Given the description of an element on the screen output the (x, y) to click on. 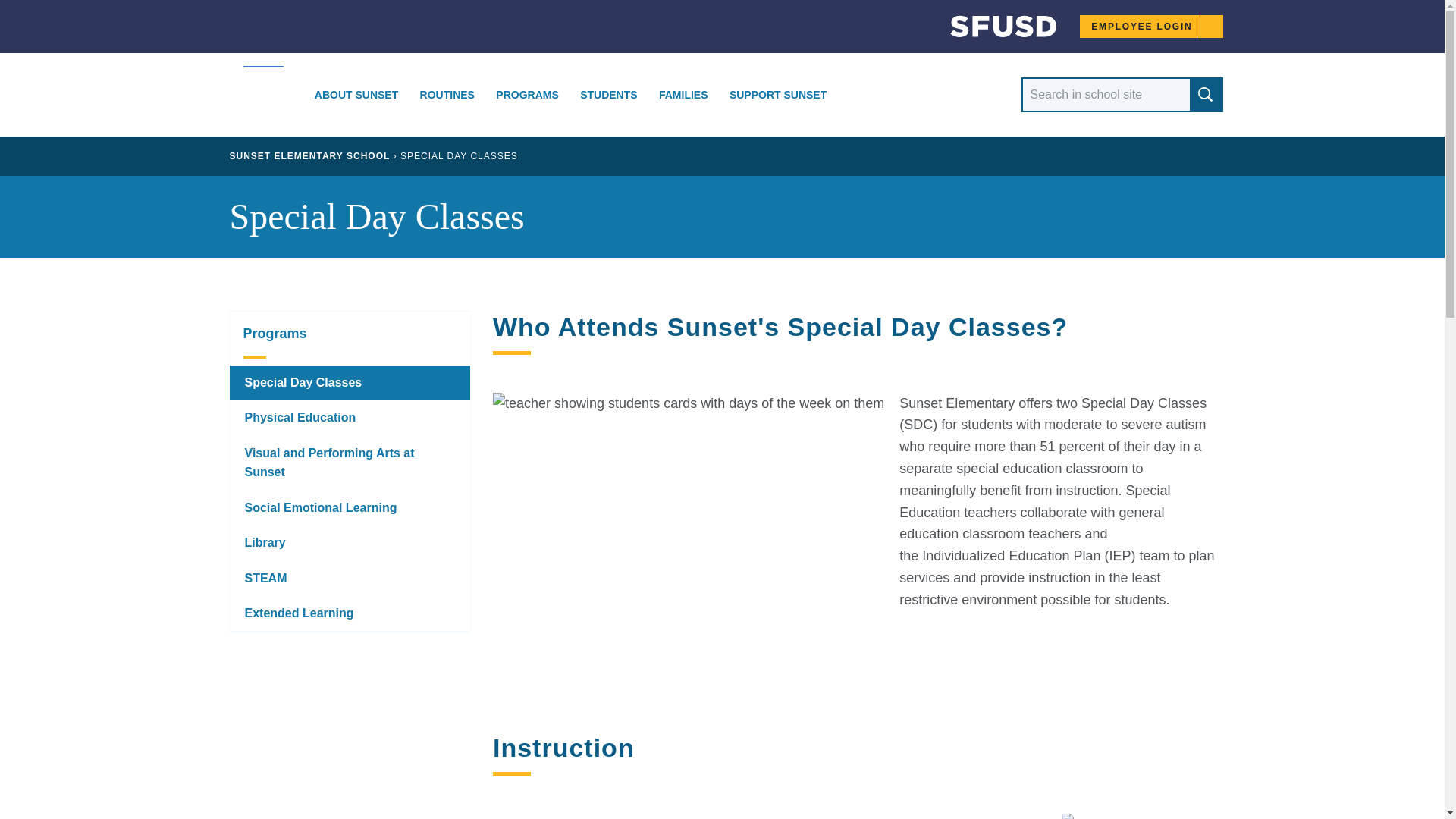
Search (1205, 94)
ABOUT SUNSET (356, 94)
ROUTINES (446, 94)
PROGRAMS (527, 94)
Home (989, 30)
STUDENTS (608, 94)
EMPLOYEE LOGIN (1151, 26)
